Given the description of an element on the screen output the (x, y) to click on. 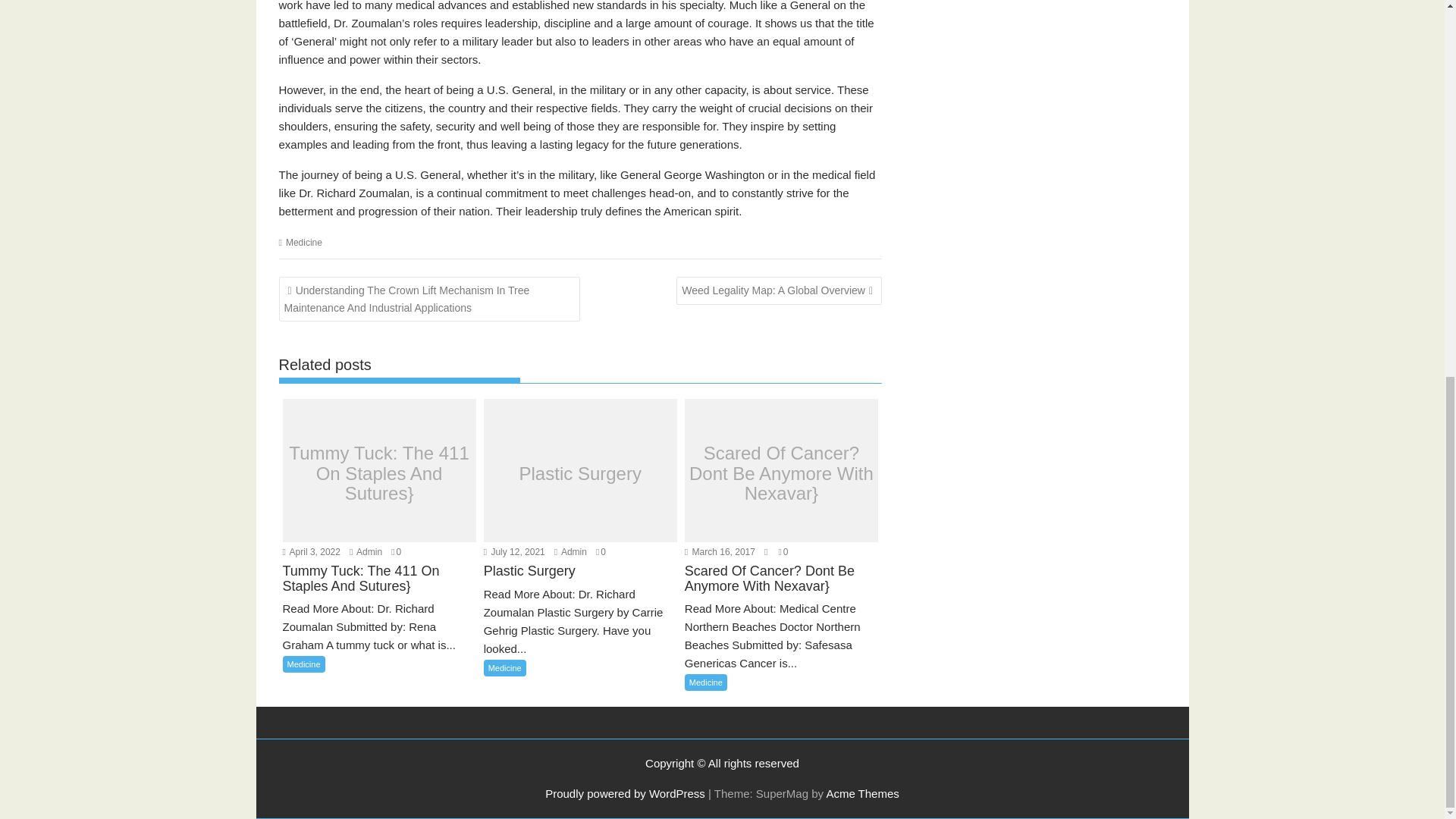
0 (600, 552)
Medicine (303, 242)
Plastic Surgery (580, 581)
0 (396, 552)
Admin (570, 552)
July 12, 2021 (513, 552)
April 3, 2022 (310, 552)
Admin (570, 552)
Weed Legality Map: A Global Overview (779, 290)
Plastic Surgery (580, 474)
